Given the description of an element on the screen output the (x, y) to click on. 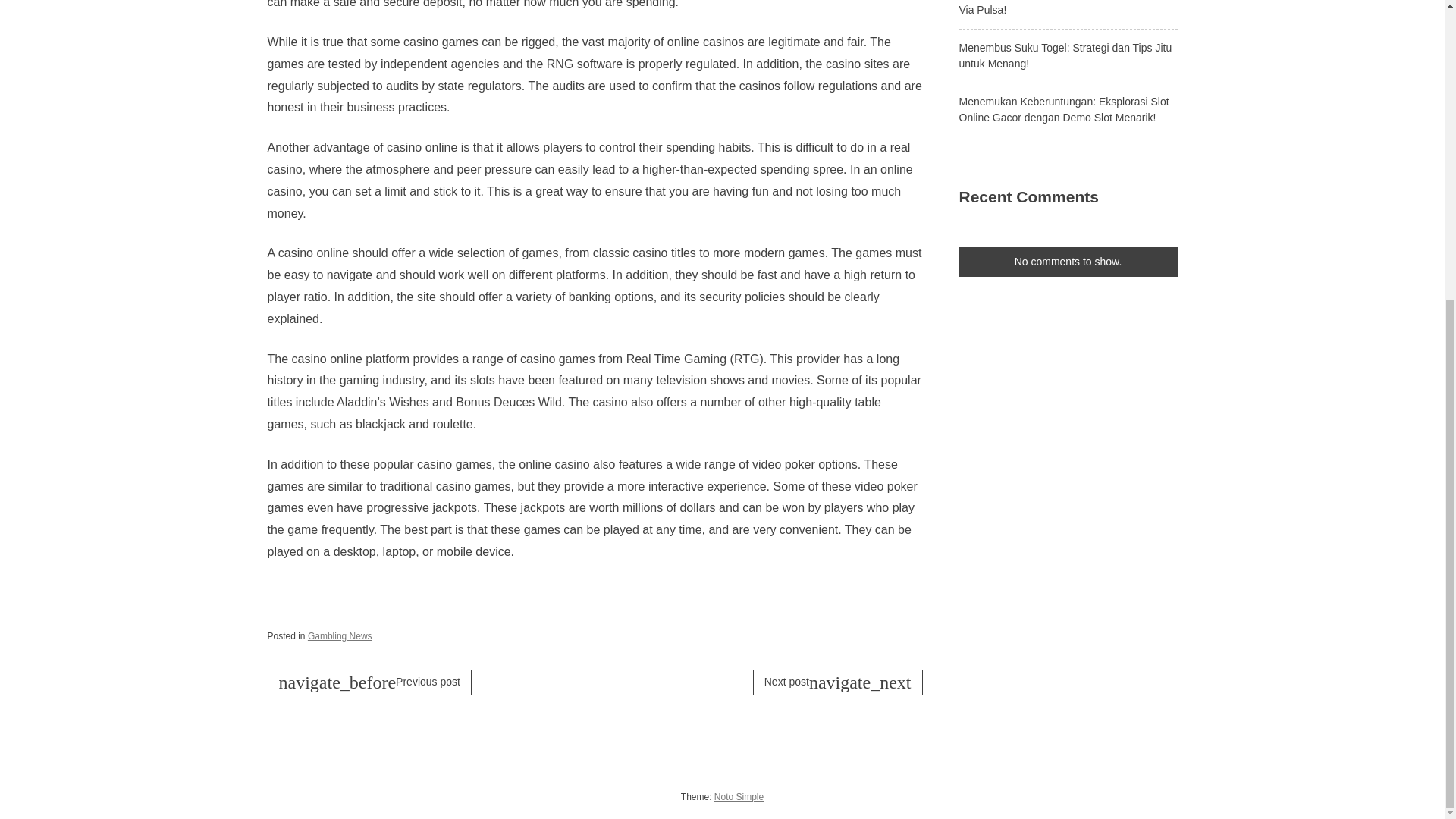
Noto Simple (738, 796)
Gambling News (339, 635)
Menembus Suku Togel: Strategi dan Tips Jitu untuk Menang! (1065, 55)
